Given the description of an element on the screen output the (x, y) to click on. 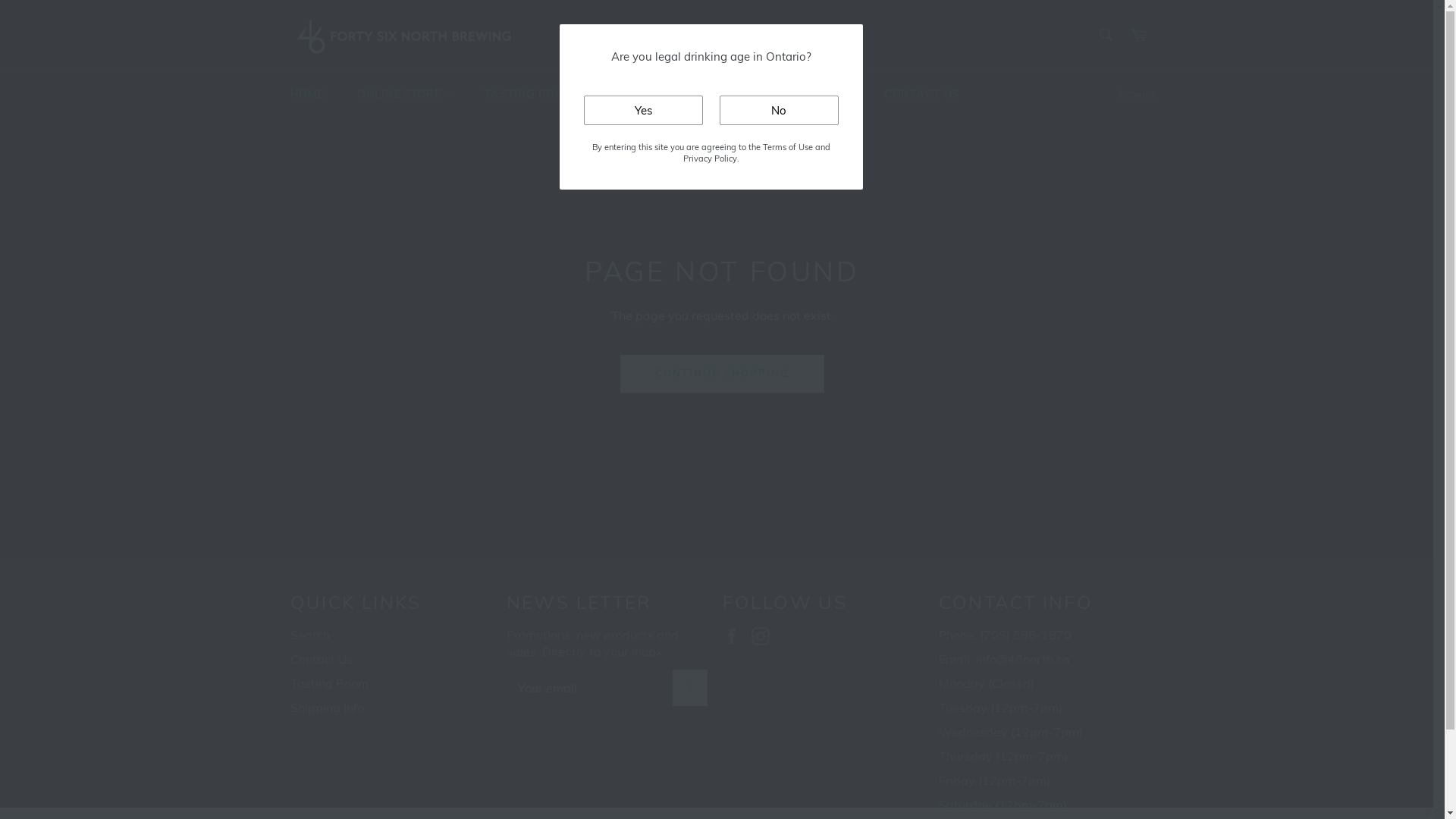
Search Element type: text (1105, 34)
Shipping Info Element type: text (326, 707)
HOME Element type: text (306, 94)
Cart Element type: text (1138, 35)
CONTINUE SHOPPING Element type: text (721, 373)
Tasting Room Element type: text (328, 682)
CONTACT US Element type: text (921, 94)
Instagram Element type: text (763, 635)
ONLINE STORE Element type: text (404, 94)
TASTING ROOM Element type: text (534, 94)
Search Element type: text (309, 634)
SUBSCRIBE Element type: text (688, 687)
Yes Element type: text (642, 110)
FIND OUR BEER Element type: text (806, 94)
Account Element type: text (1134, 94)
No Element type: text (777, 110)
PRIVATE BOOKINGS Element type: text (673, 94)
Contact Us Element type: text (320, 658)
Facebook Element type: text (734, 635)
